Given the description of an element on the screen output the (x, y) to click on. 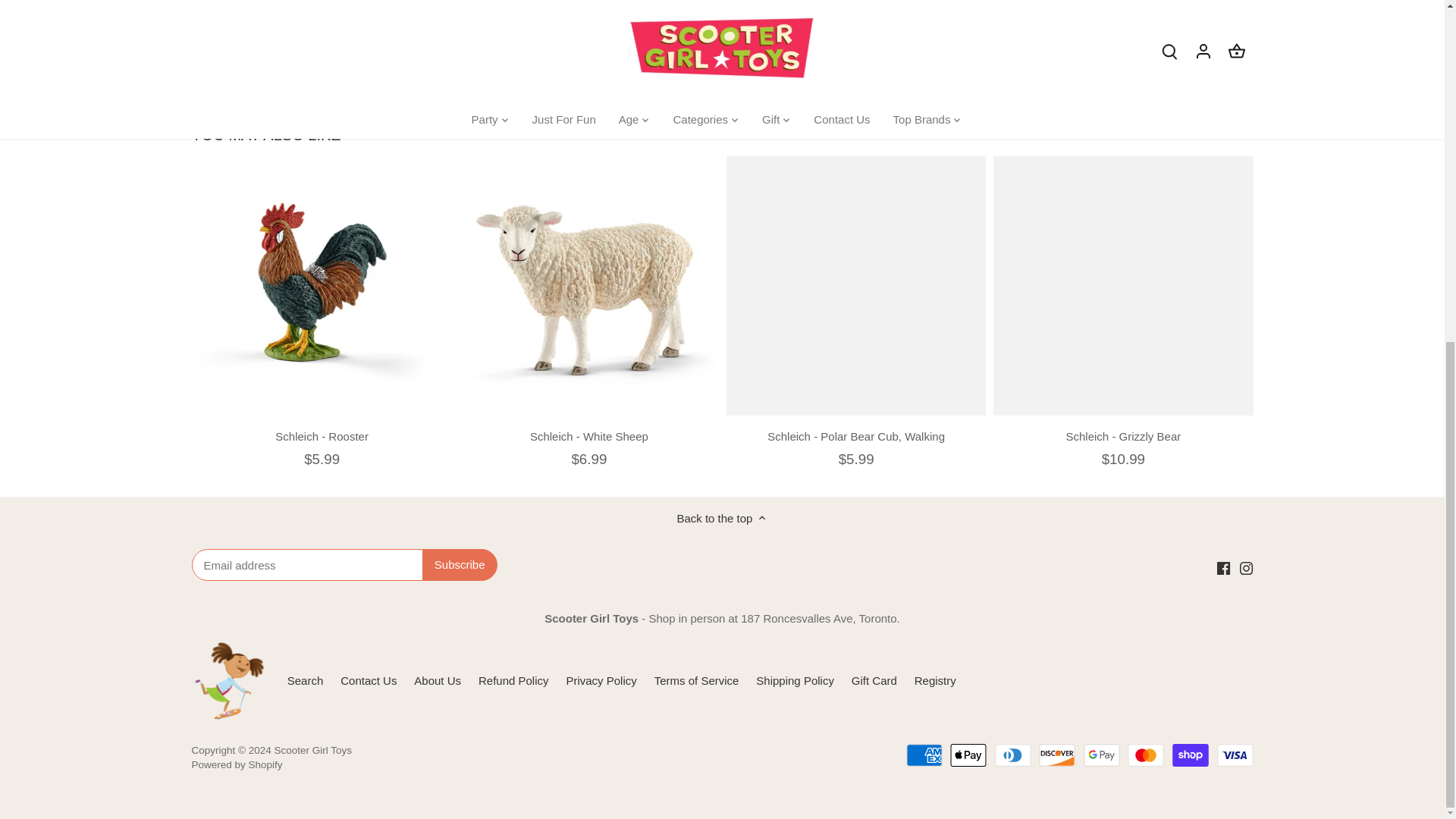
Google Pay (1101, 754)
Subscribe (459, 564)
American Express (923, 754)
Apple Pay (968, 754)
Instagram (1246, 567)
Diners Club (1012, 754)
Facebook (1223, 567)
Discover (1057, 754)
